Given the description of an element on the screen output the (x, y) to click on. 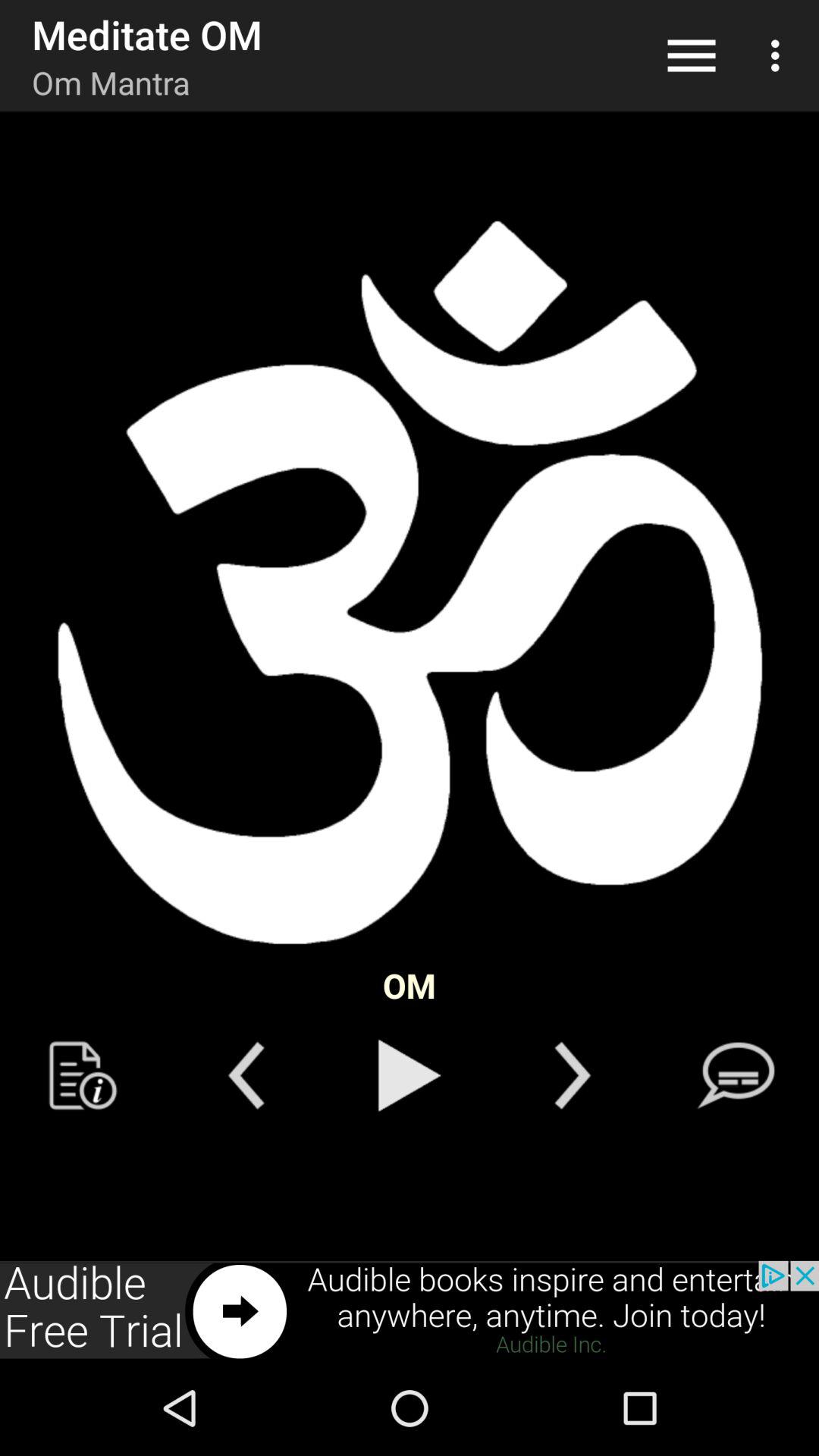
play (409, 1075)
